Given the description of an element on the screen output the (x, y) to click on. 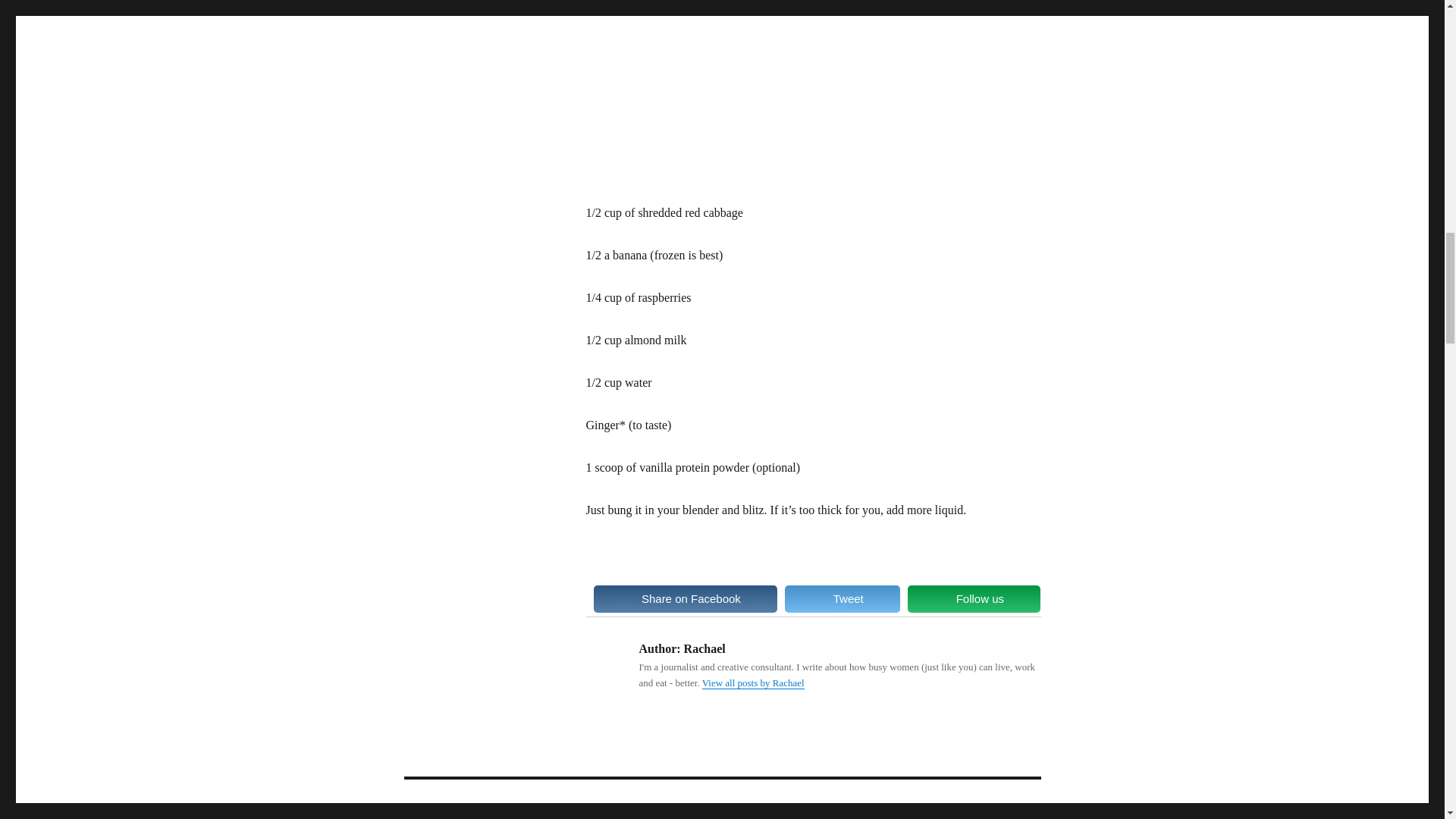
View all posts by Rachael (753, 682)
Share on Facebook (684, 598)
Tweet (841, 598)
Follow us (974, 598)
